Given the description of an element on the screen output the (x, y) to click on. 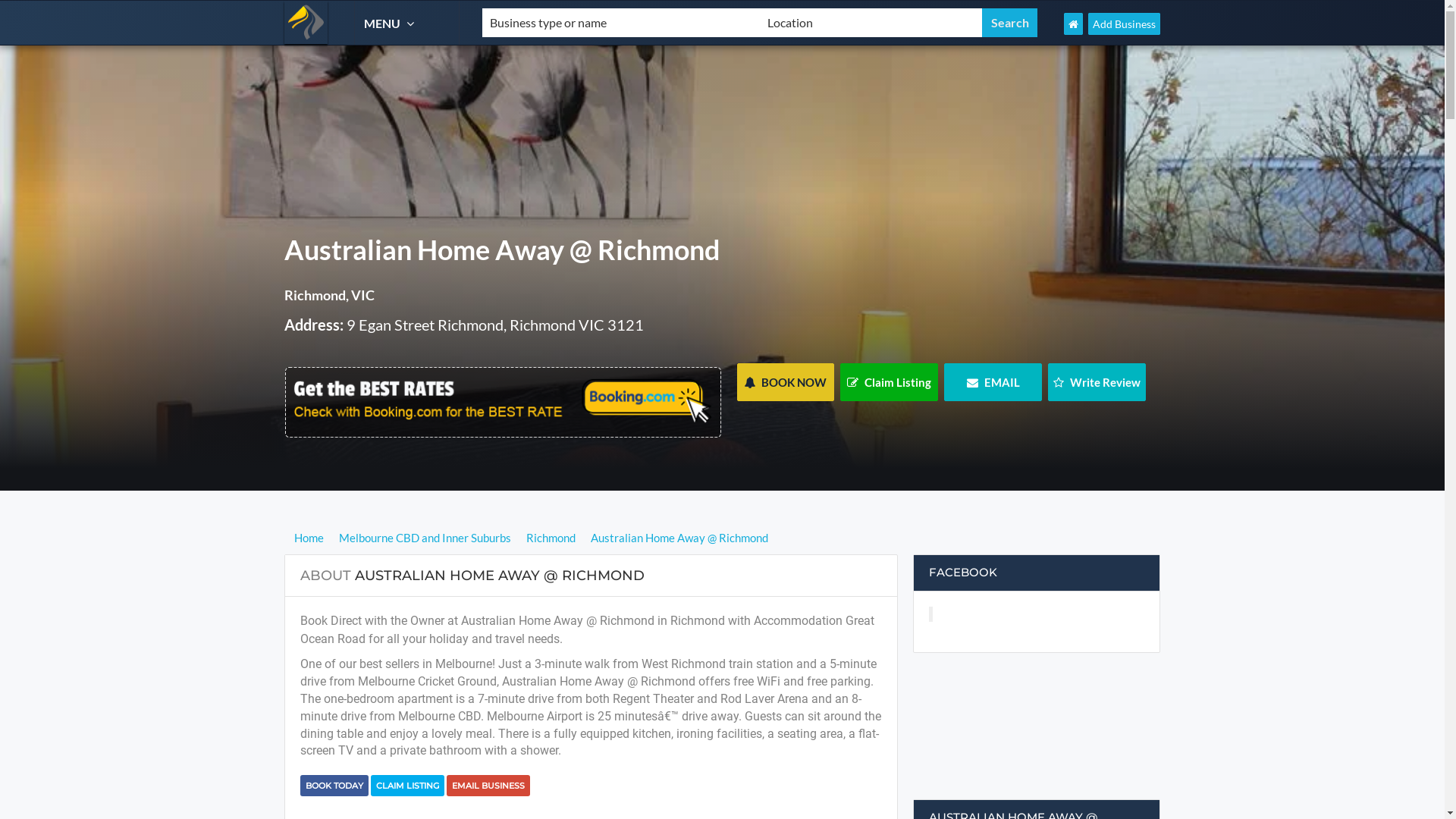
Search Element type: text (1009, 22)
Add Business Element type: text (1124, 23)
Accommodation Great Ocean Road Element type: hover (305, 21)
Accommodation Great Ocean Road Home Page Element type: hover (1072, 23)
Richmond Element type: text (549, 537)
MENU Element type: text (390, 22)
 Write Review Element type: text (1096, 382)
CLAIM LISTING Element type: text (407, 785)
 BOOK NOW Element type: text (785, 382)
Australian Home Away @ Richmond Element type: text (678, 537)
Australian Home Away @ Richmond Element type: text (503, 255)
BOOK TODAY Element type: text (334, 785)
Melbourne CBD and Inner Suburbs Element type: text (424, 537)
EMAIL BUSINESS Element type: text (488, 785)
Home Element type: text (310, 537)
 Claim Listing Element type: text (889, 382)
 EMAIL Element type: text (992, 382)
